Given the description of an element on the screen output the (x, y) to click on. 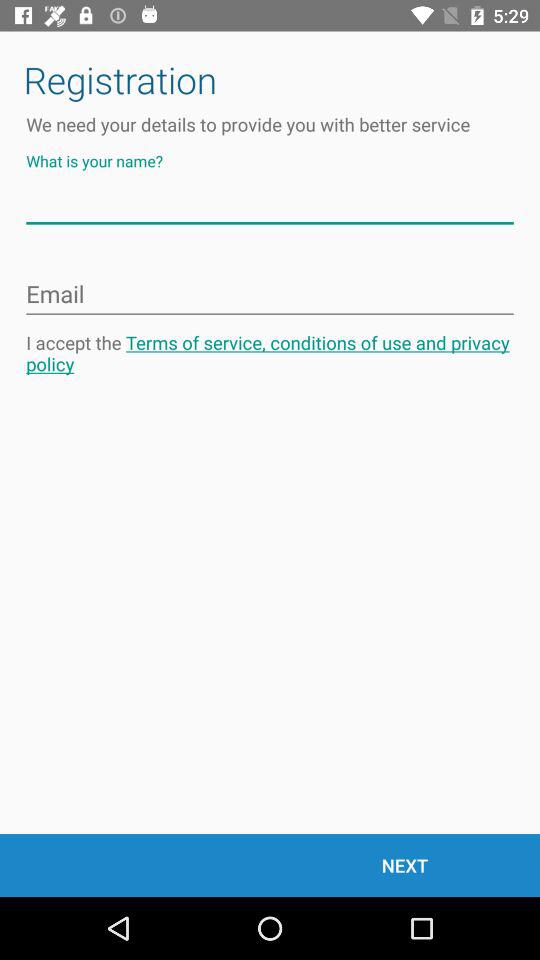
enter your name (270, 203)
